Given the description of an element on the screen output the (x, y) to click on. 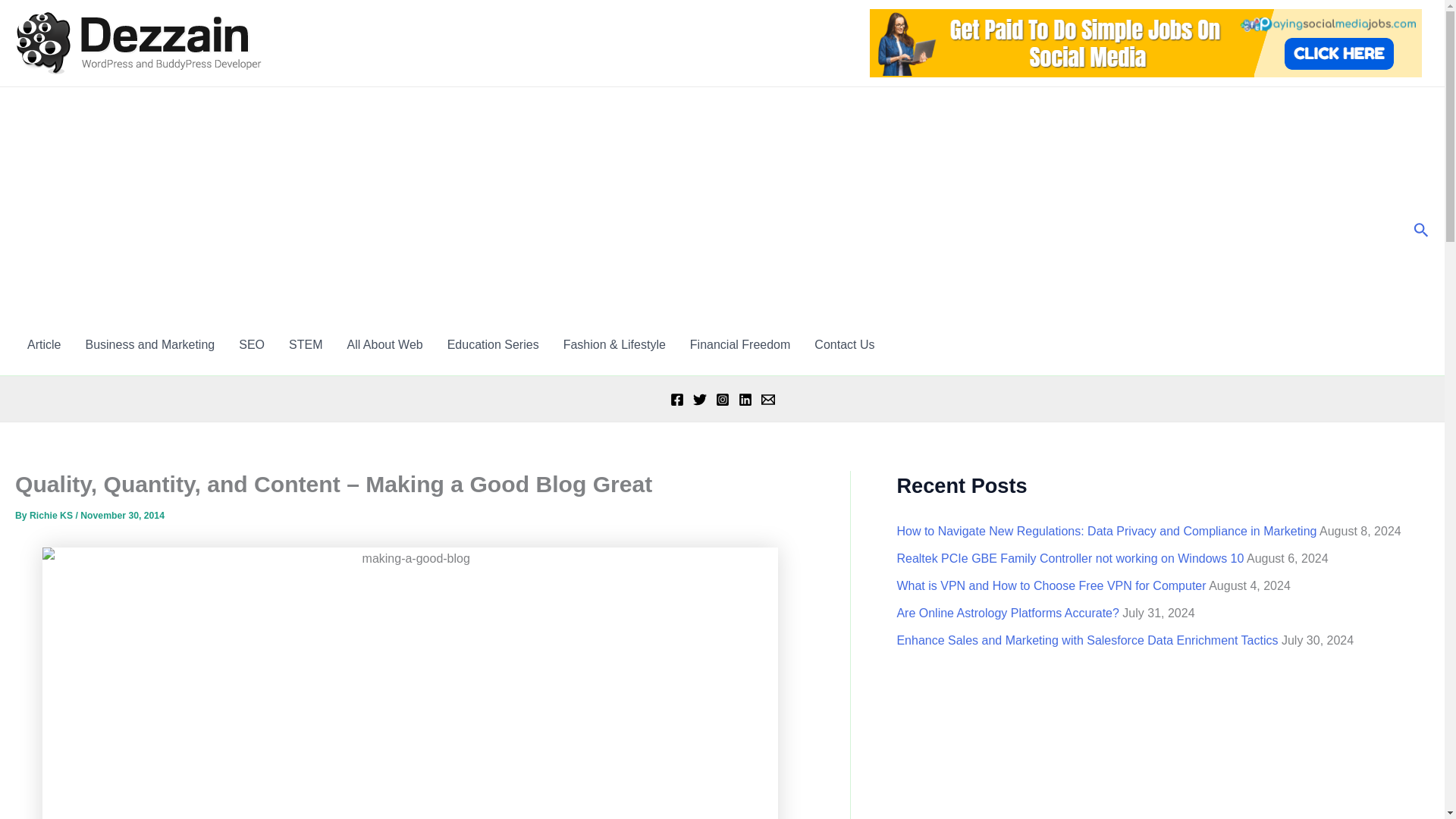
Richie KS (52, 515)
Article (43, 344)
View all posts by Richie KS (52, 515)
Education Series (493, 344)
Business and Marketing (149, 344)
Financial Freedom (740, 344)
STEM (305, 344)
Contact Us (844, 344)
All About Web (383, 344)
